Given the description of an element on the screen output the (x, y) to click on. 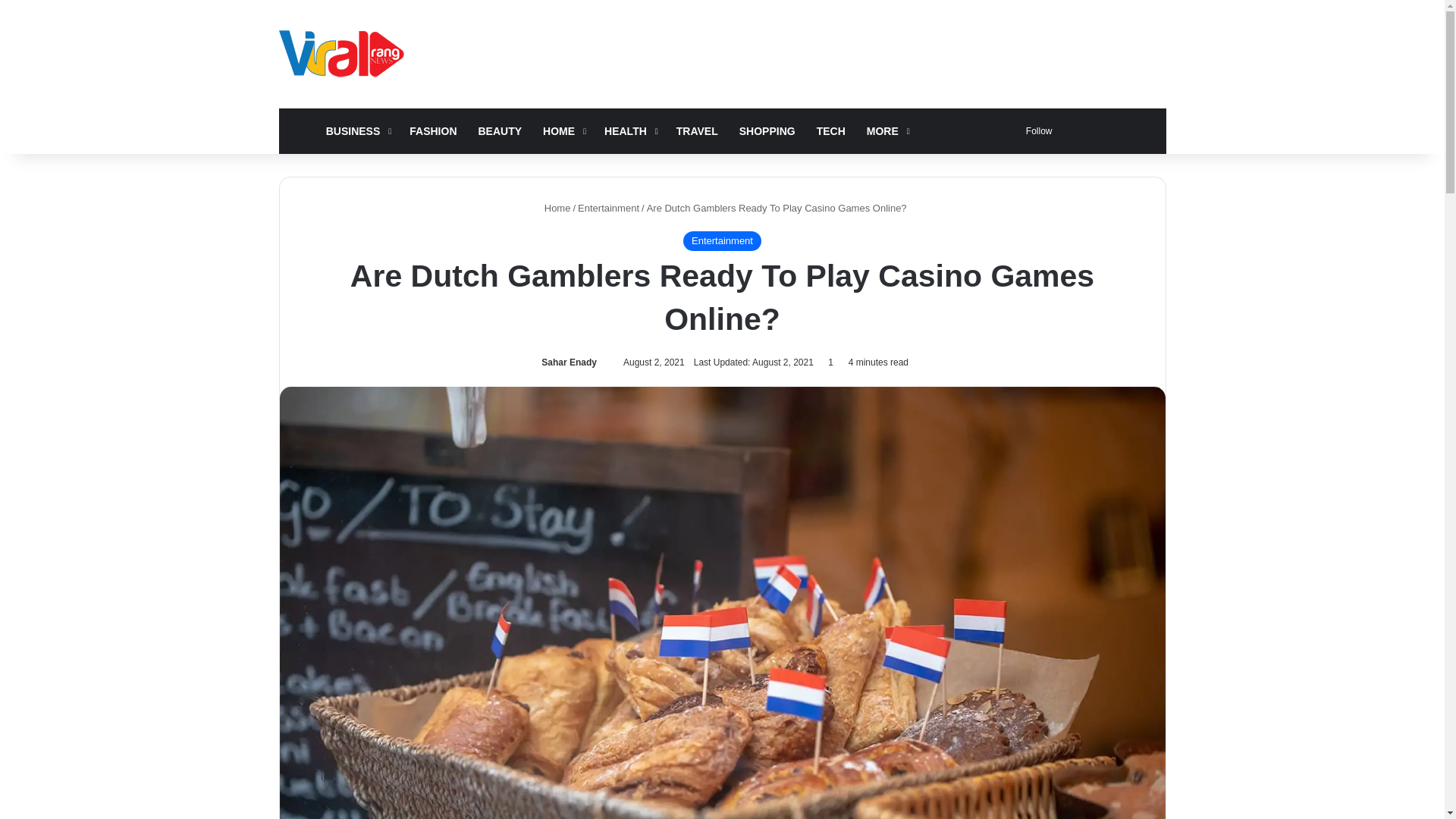
BEAUTY (499, 130)
HOME (563, 130)
Follow (1035, 130)
FASHION (432, 130)
Viral Rang (344, 53)
TECH (831, 130)
TRAVEL (697, 130)
Sahar Enady (565, 362)
SHOPPING (767, 130)
MORE (886, 130)
BUSINESS (356, 130)
HEALTH (629, 130)
